Given the description of an element on the screen output the (x, y) to click on. 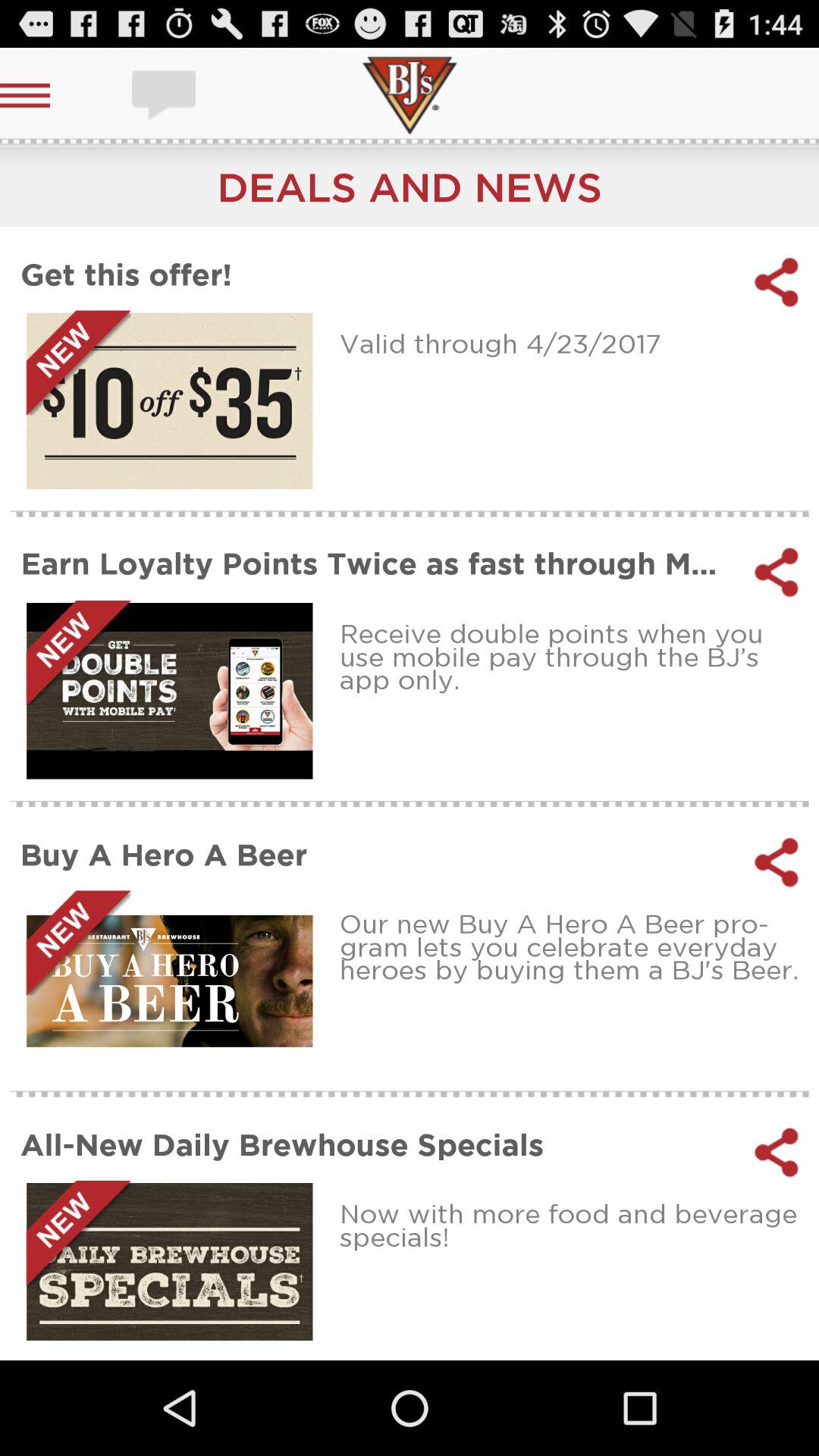
share buttom (776, 862)
